Given the description of an element on the screen output the (x, y) to click on. 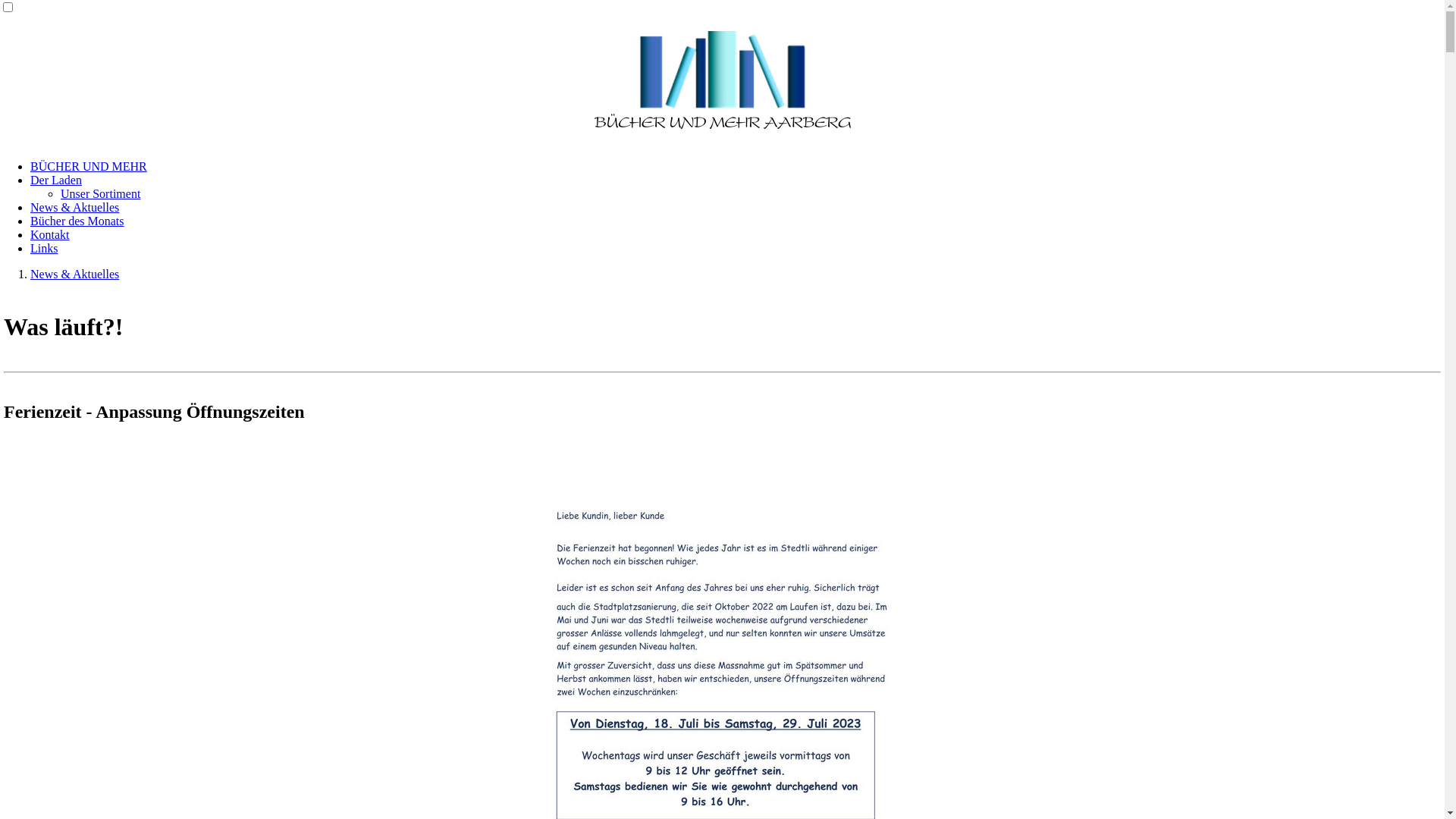
News & Aktuelles Element type: text (74, 206)
Links Element type: text (43, 247)
Der Laden Element type: text (55, 179)
Unser Sortiment Element type: text (100, 193)
Kontakt Element type: text (49, 234)
News & Aktuelles Element type: text (74, 273)
